Given the description of an element on the screen output the (x, y) to click on. 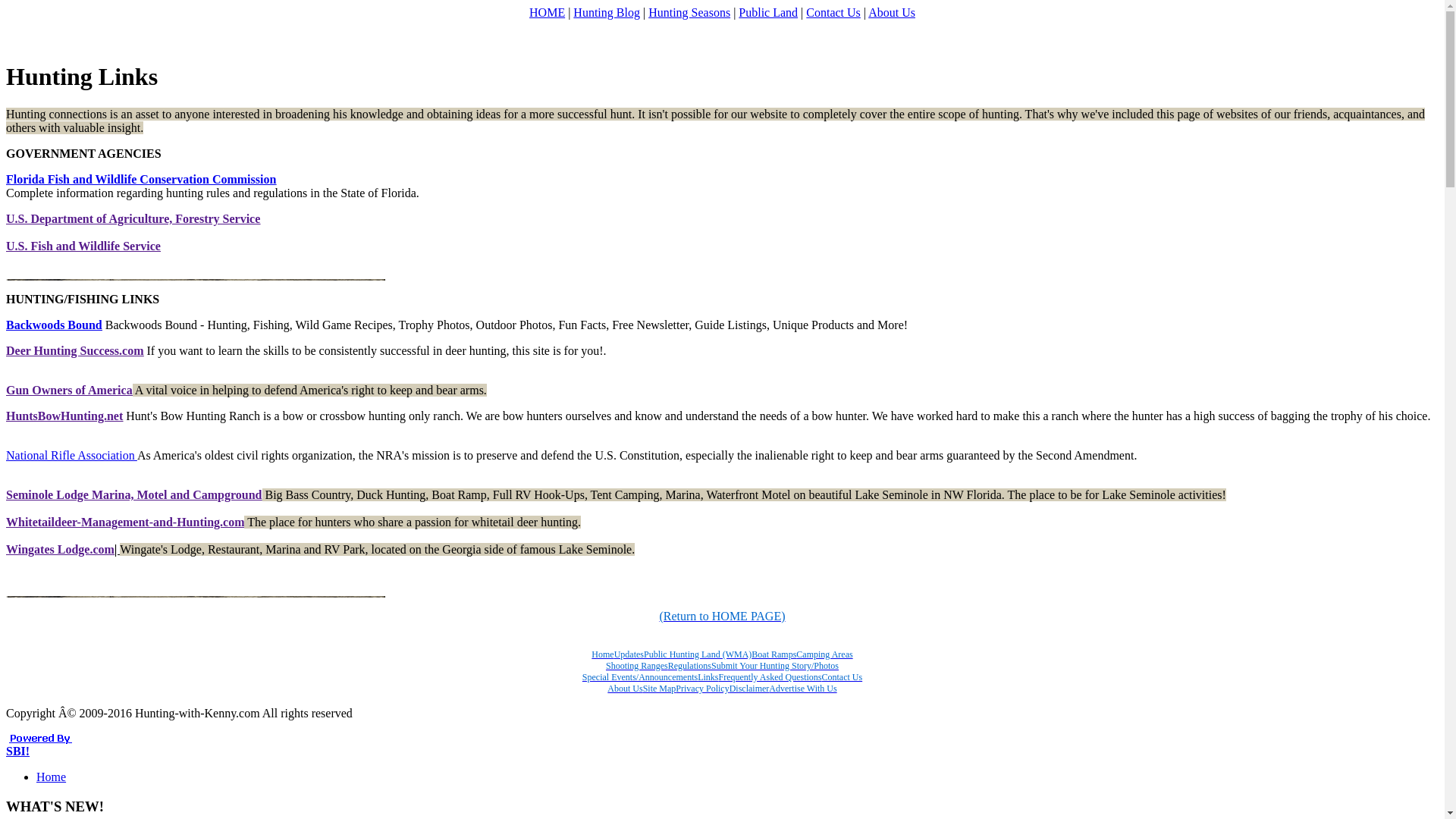
Contact Us (833, 11)
Gun Owners of America (68, 390)
Whitetaildeer-Management-and-Hunting.com (124, 521)
Public Land (767, 11)
Hunting Blog (606, 11)
Links (707, 675)
Hunting Seasons (688, 11)
Backwoods Bound (53, 324)
Advertise With Us (801, 686)
Home (601, 653)
